Given the description of an element on the screen output the (x, y) to click on. 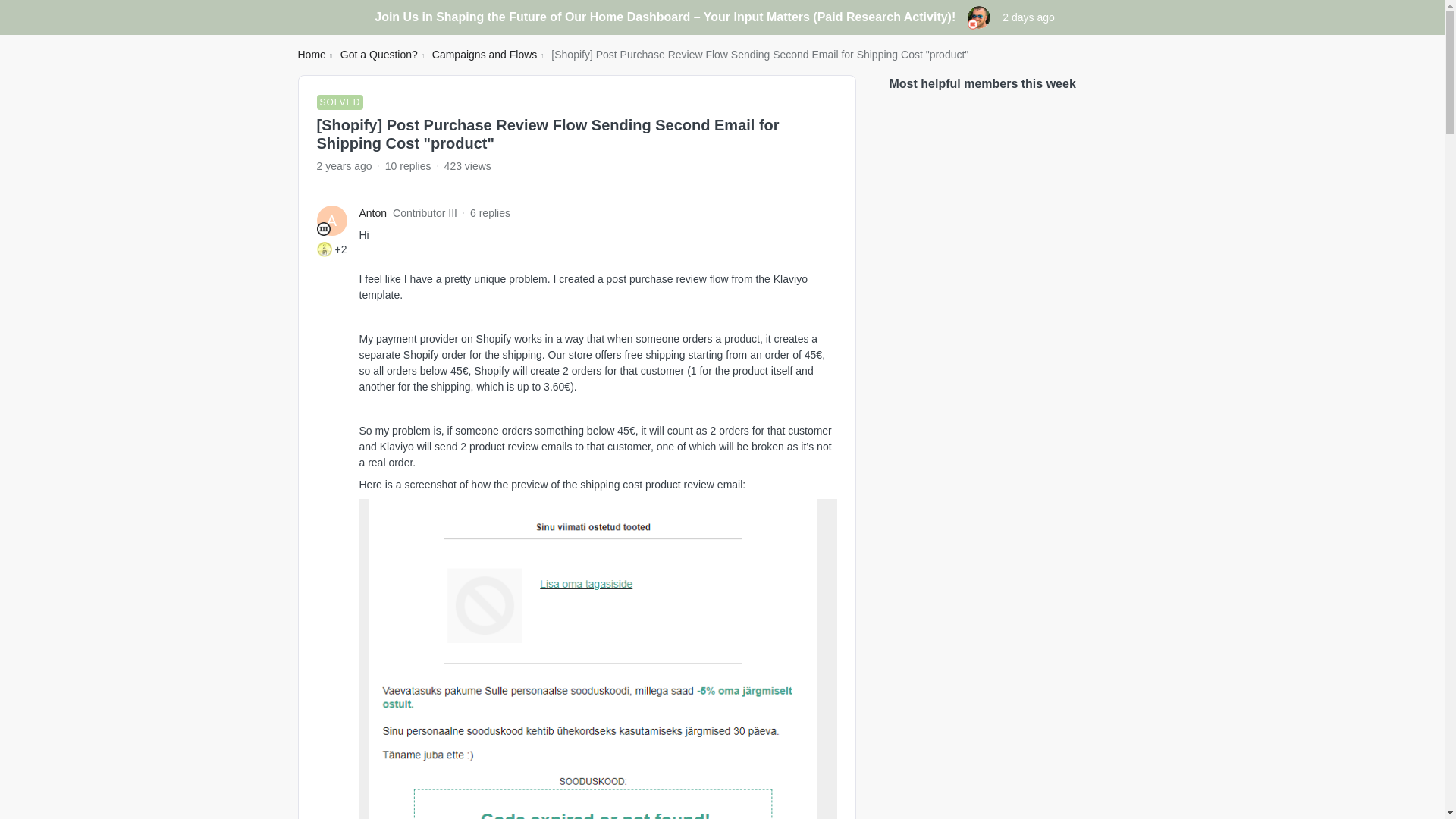
Anton (373, 213)
Contributor III (323, 228)
Community Manager (973, 23)
Anton (373, 213)
Anniversary - 2 years (324, 249)
10 replies (407, 165)
Home (310, 54)
Got a Question? (378, 54)
Campaigns and Flows (484, 54)
A (332, 220)
